Given the description of an element on the screen output the (x, y) to click on. 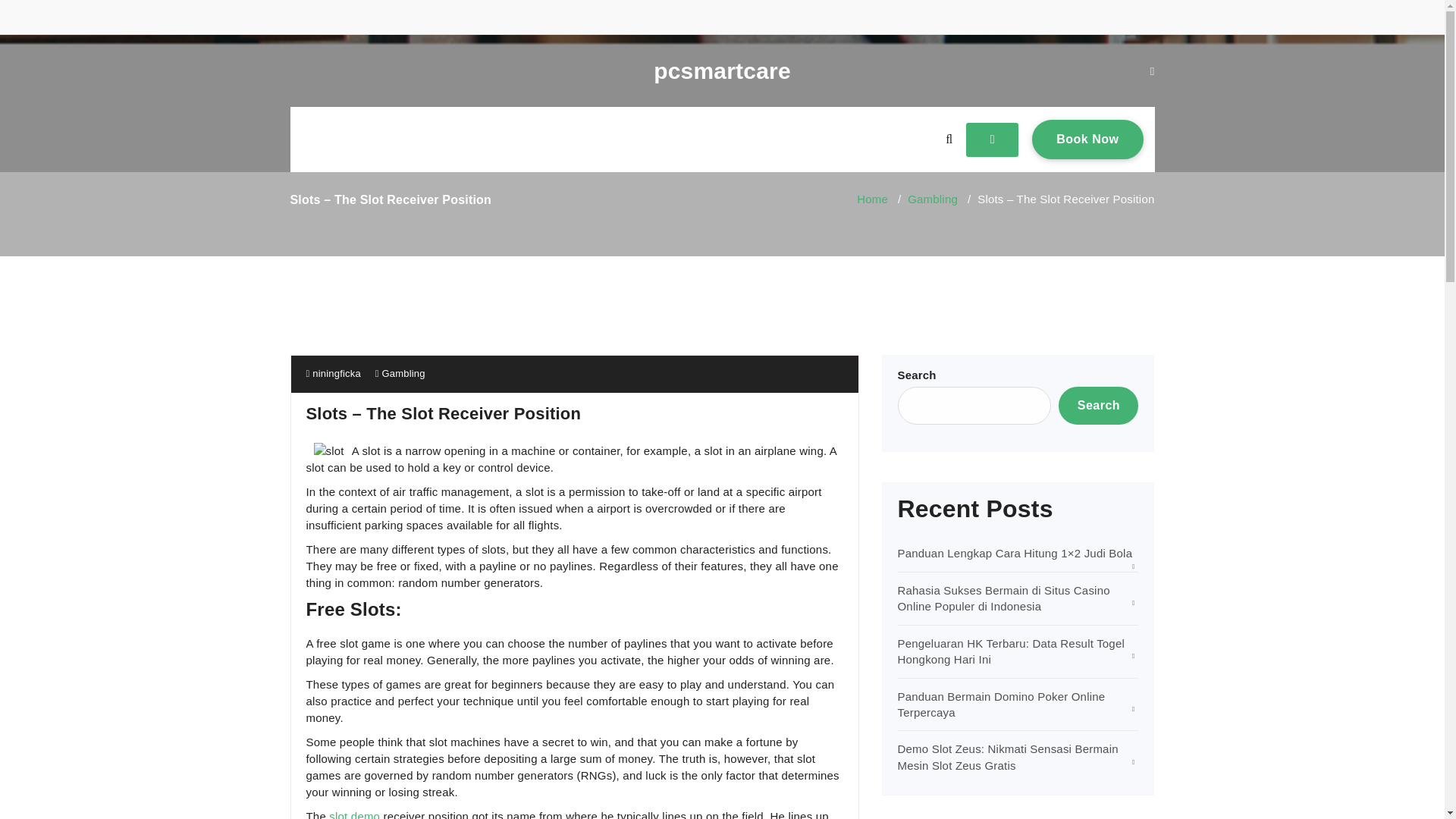
Gambling (403, 373)
Gambling (932, 198)
niningficka (333, 373)
Panduan Bermain Domino Poker Online Terpercaya (1001, 704)
Home (872, 198)
Search (1098, 405)
pcsmartcare (721, 71)
Pengeluaran HK Terbaru: Data Result Togel Hongkong Hari Ini (1011, 651)
slot demo (354, 814)
